Given the description of an element on the screen output the (x, y) to click on. 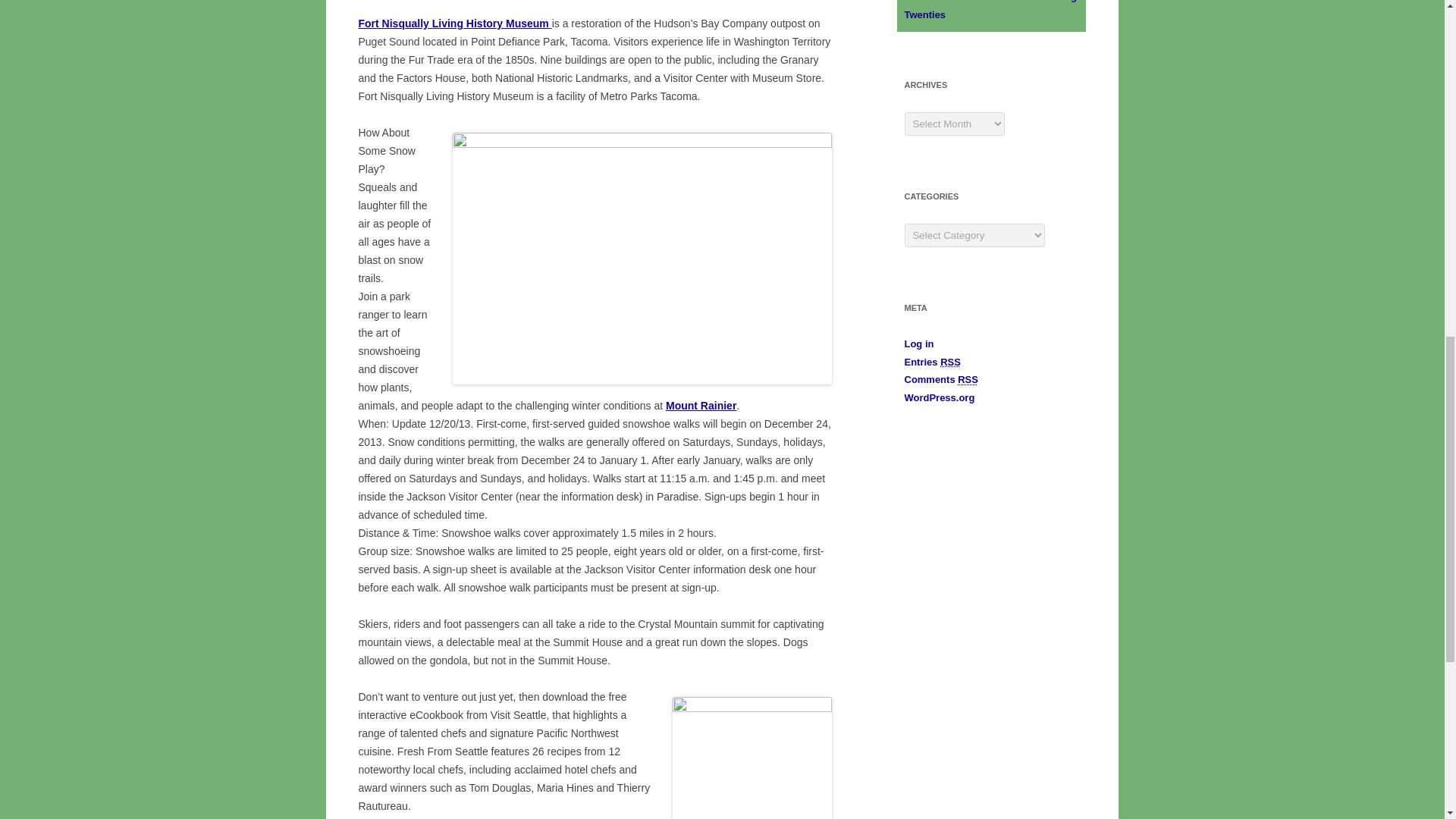
Really Simple Syndication (950, 361)
Really Simple Syndication (968, 378)
Fort Nisqually Living History Museum (454, 23)
Mount Rainier (700, 405)
